Given the description of an element on the screen output the (x, y) to click on. 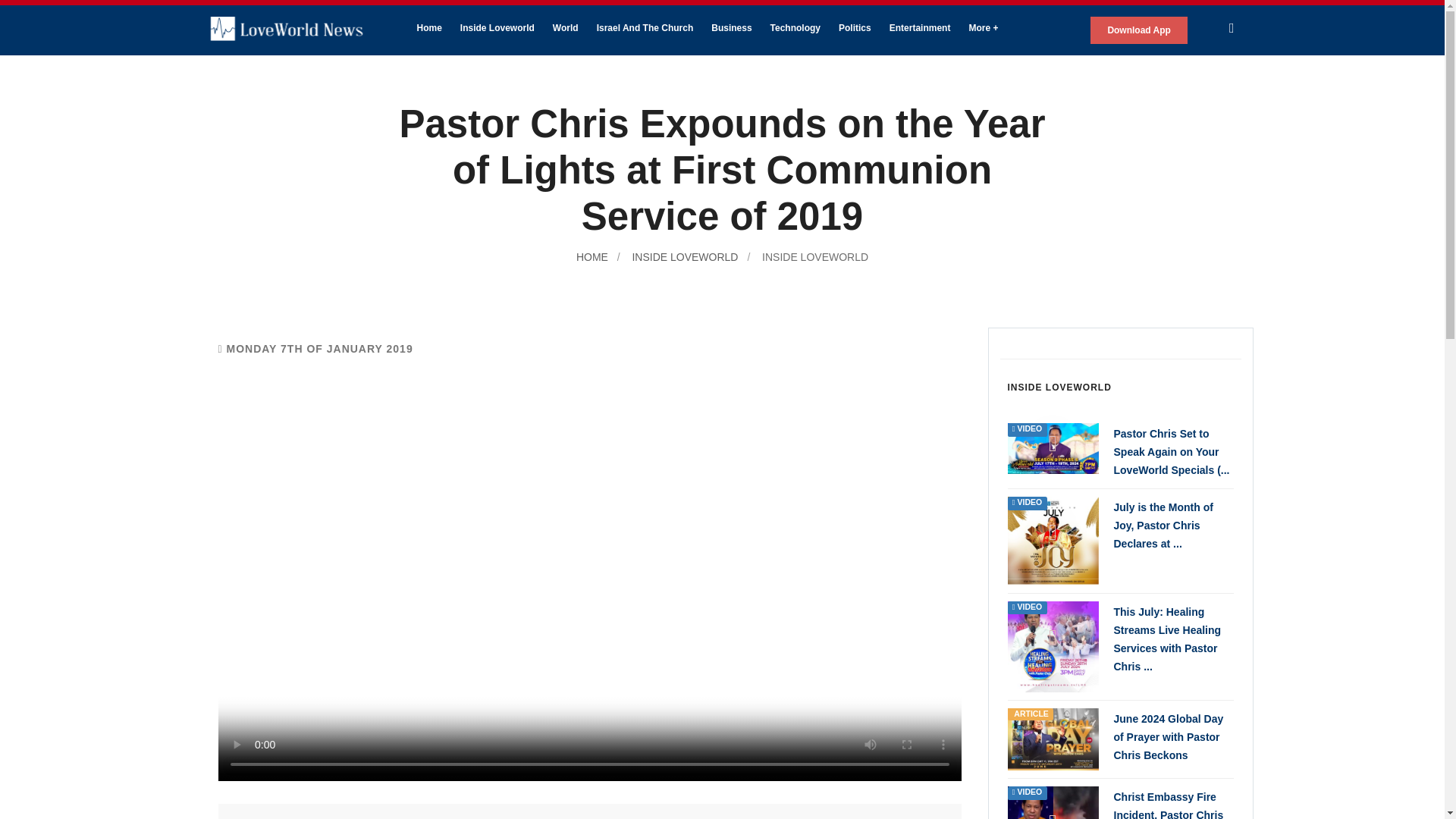
Business (730, 27)
Inside Loveworld (497, 27)
World (565, 27)
HOME (592, 256)
INSIDE LOVEWORLD (683, 256)
Download App (1139, 30)
Politics (854, 27)
Entertainment (919, 27)
Home (429, 27)
Technology (795, 27)
Israel And The Church (645, 27)
INSIDE LOVEWORLD (812, 256)
